Given the description of an element on the screen output the (x, y) to click on. 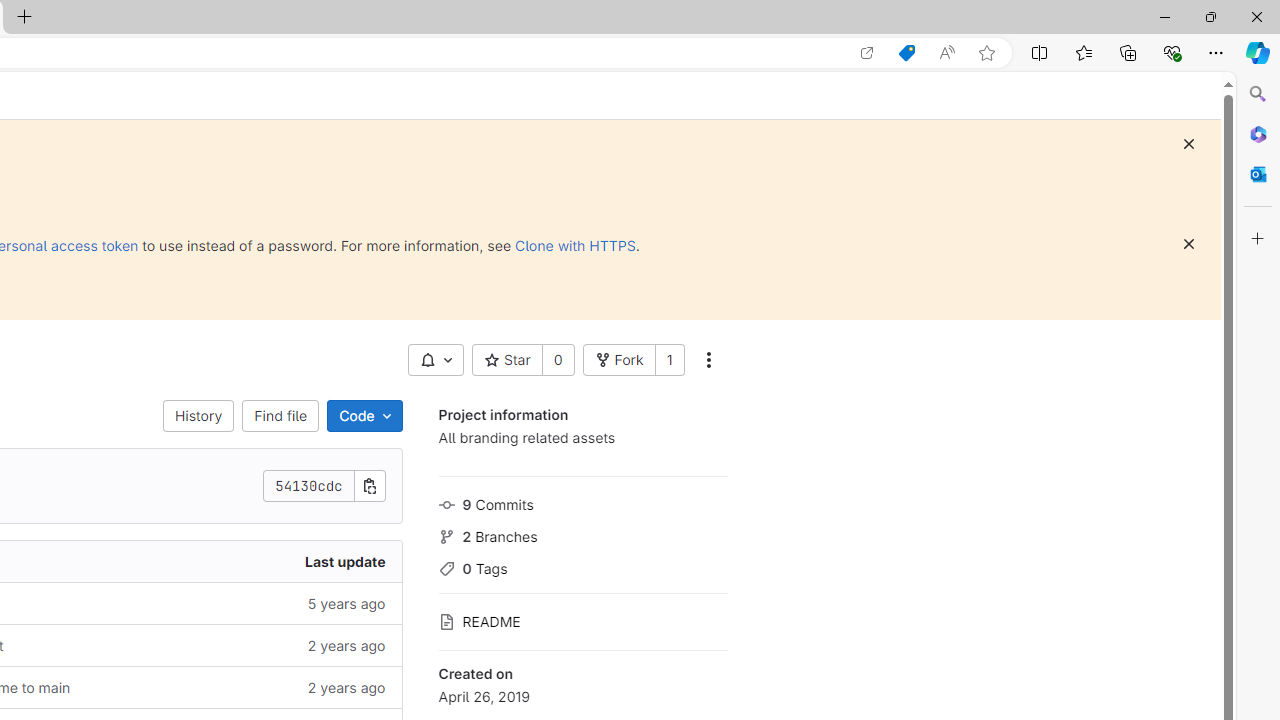
History (198, 416)
Class: s16 icon gl-mr-3 gl-text-gray-500 (445, 622)
0 Tags (582, 566)
Open in app (867, 53)
5 years ago (247, 602)
README (582, 620)
README (582, 620)
